Given the description of an element on the screen output the (x, y) to click on. 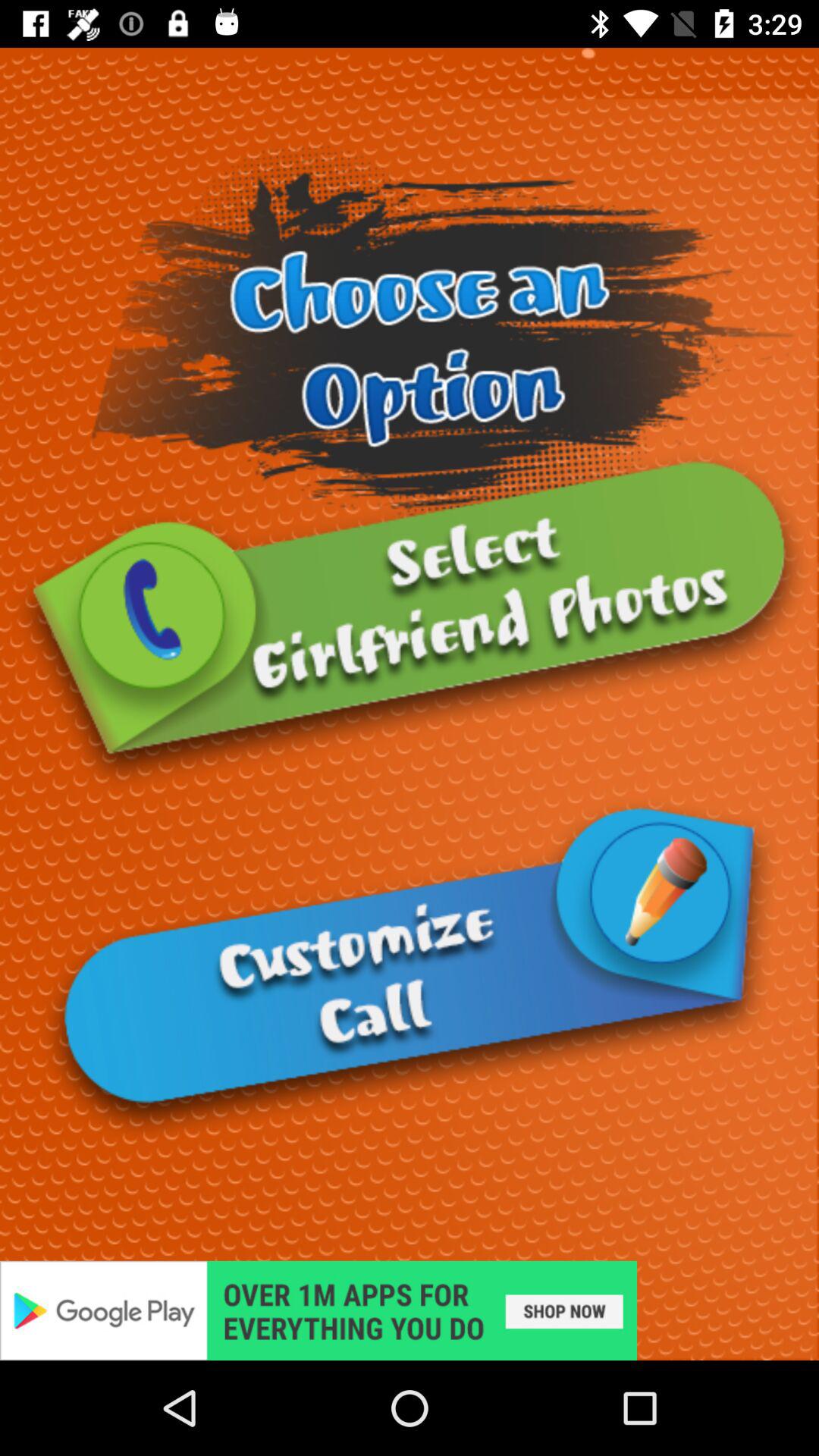
customize phone call (409, 969)
